Given the description of an element on the screen output the (x, y) to click on. 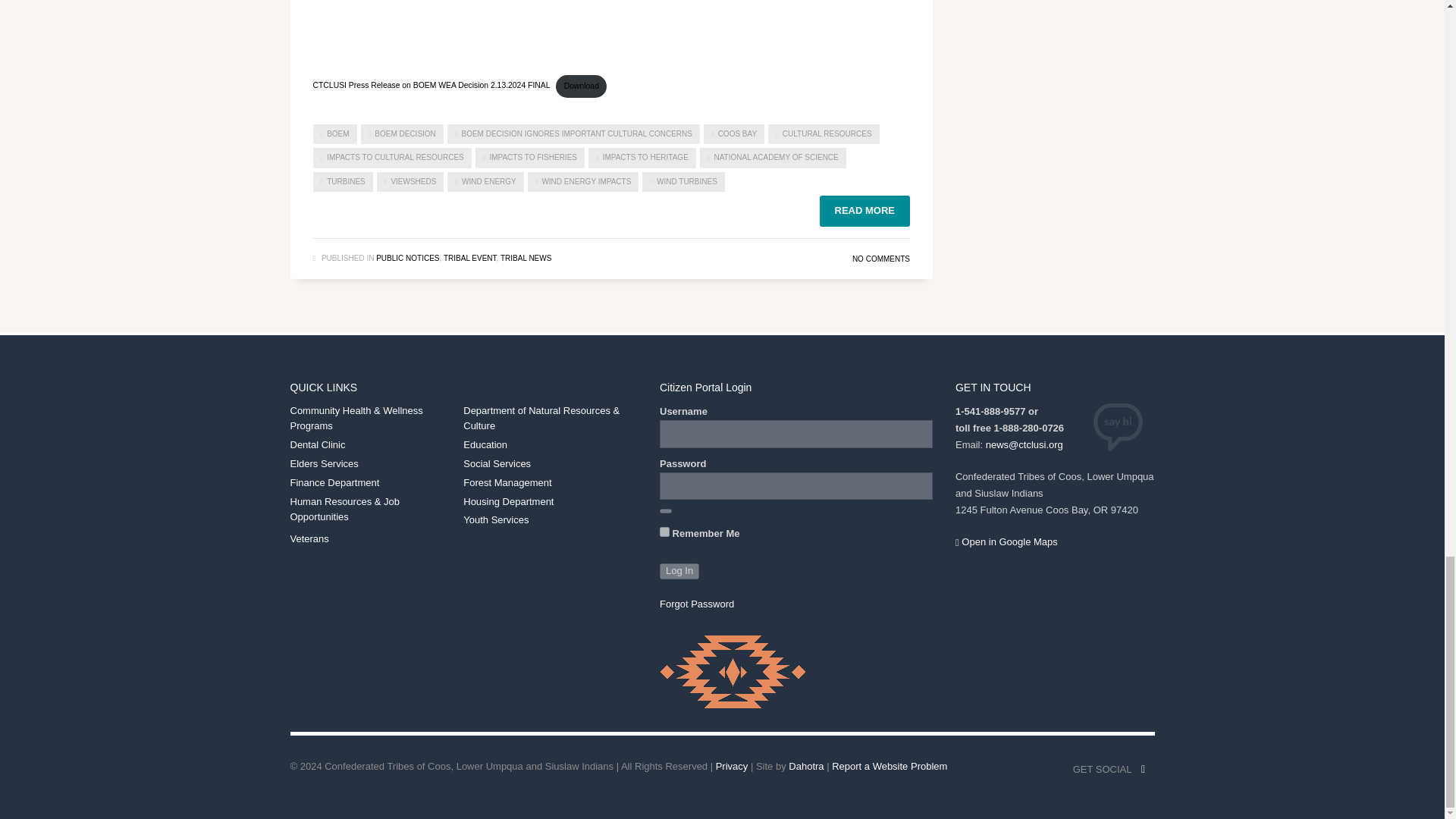
forever (664, 532)
Log In (678, 571)
Like us on Facebook! (1142, 769)
